Given the description of an element on the screen output the (x, y) to click on. 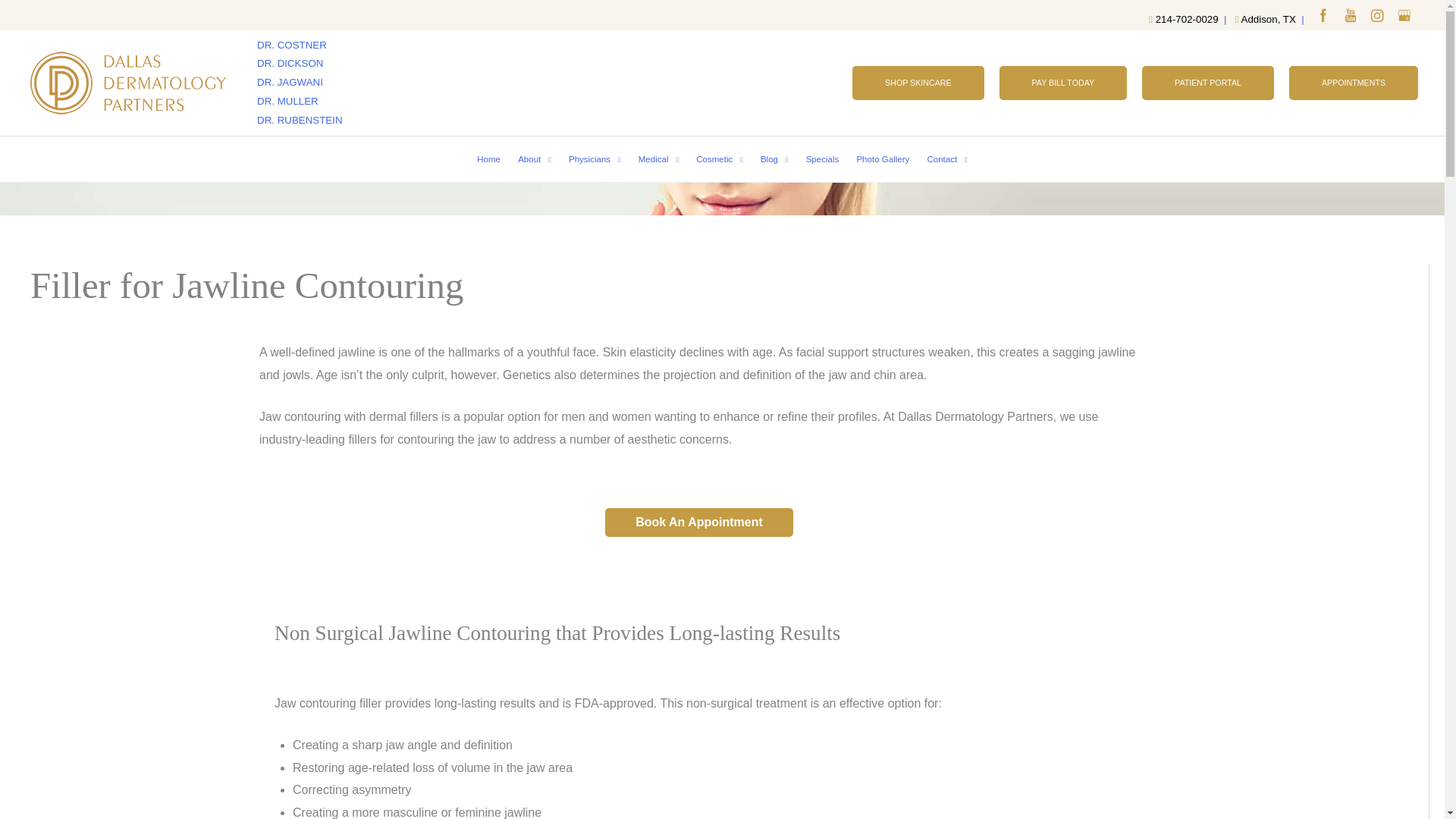
Follow Dallas Dermatology Partners on Instagram (1378, 16)
PATIENT PORTAL (1207, 83)
SHOP SKINCARE (917, 83)
Physicians (593, 158)
DR. MULLER (287, 101)
PAY BILL TODAY (1062, 83)
DR. COSTNER (291, 44)
DR. RUBENSTEIN (299, 120)
Follow Dallas Dermatology Partners on Youtube (1351, 16)
Get Directions to Dallas Dermatology Partners (1405, 16)
